Given the description of an element on the screen output the (x, y) to click on. 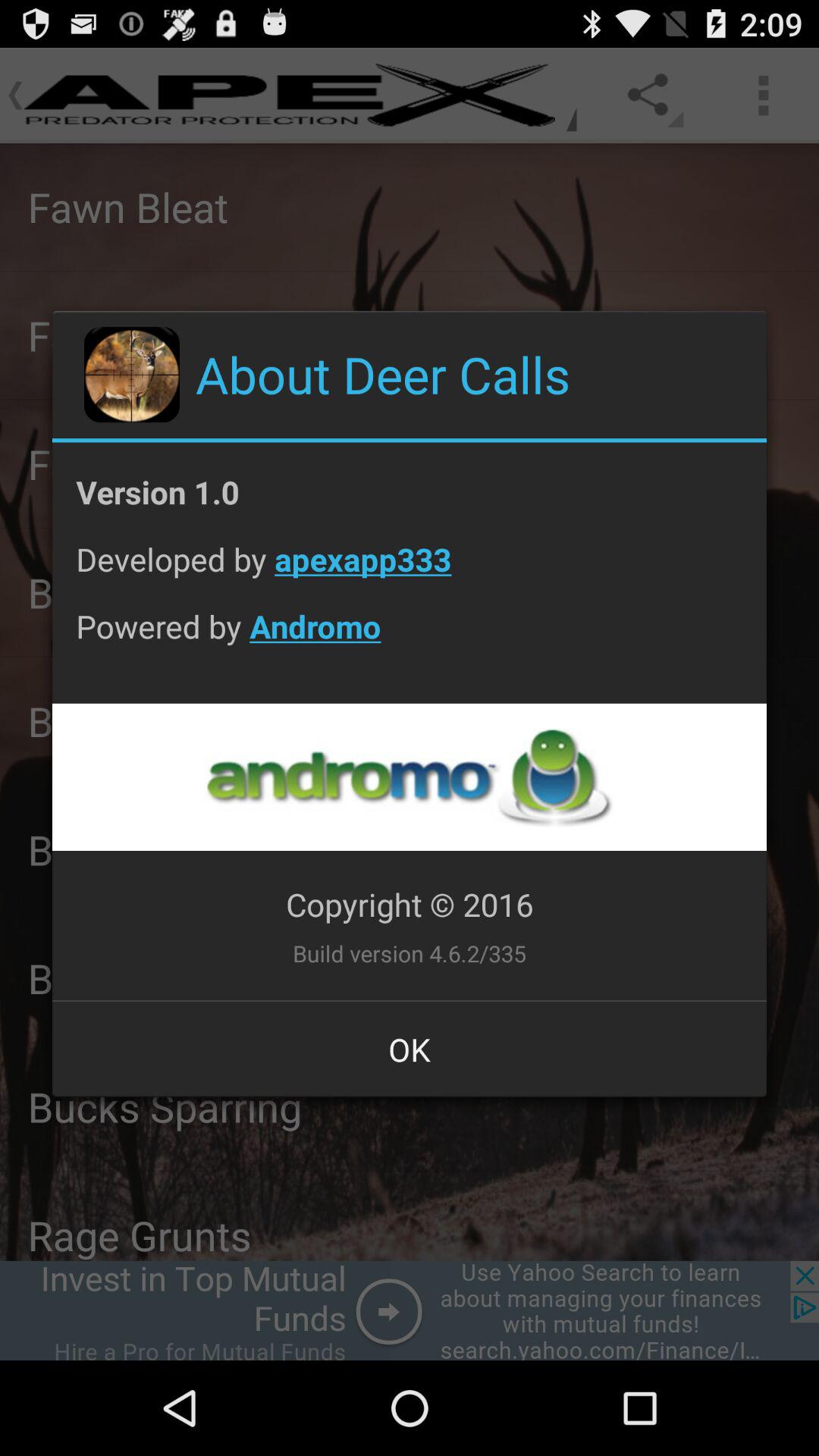
choose powered by andromo app (409, 637)
